Given the description of an element on the screen output the (x, y) to click on. 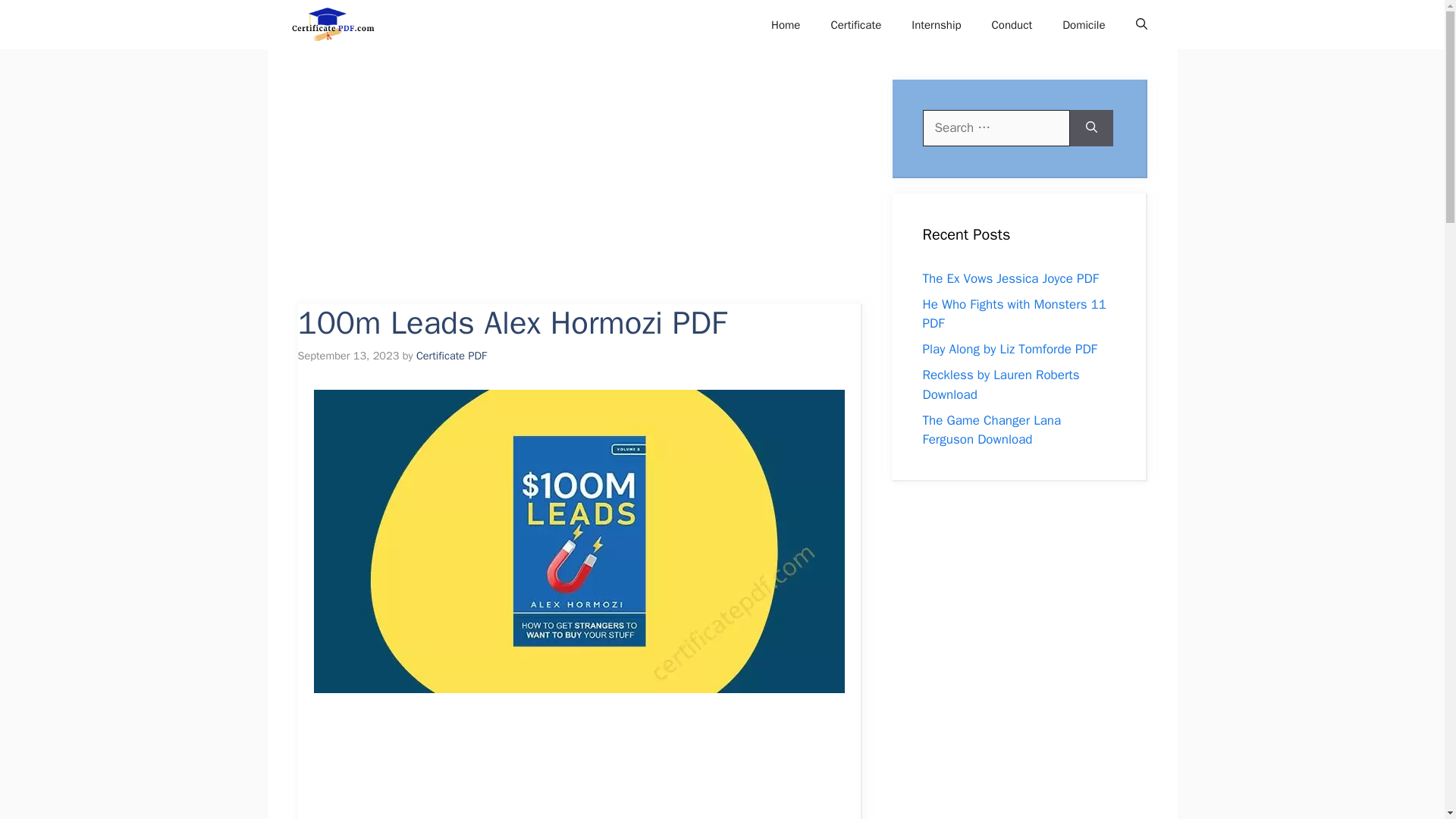
Domicile (1082, 23)
Certificate (855, 23)
Certificate PDF (343, 24)
Advertisement (596, 769)
Certificate PDF (451, 355)
Reckless by Lauren Roberts Download (999, 384)
The Ex Vows Jessica Joyce PDF (1009, 277)
The Game Changer Lana Ferguson Download (991, 429)
Search for: (994, 127)
Internship (935, 23)
Conduct (1012, 23)
Play Along by Liz Tomforde PDF (1008, 349)
Home (785, 23)
Advertisement (597, 191)
View all posts by Certificate PDF (451, 355)
